Given the description of an element on the screen output the (x, y) to click on. 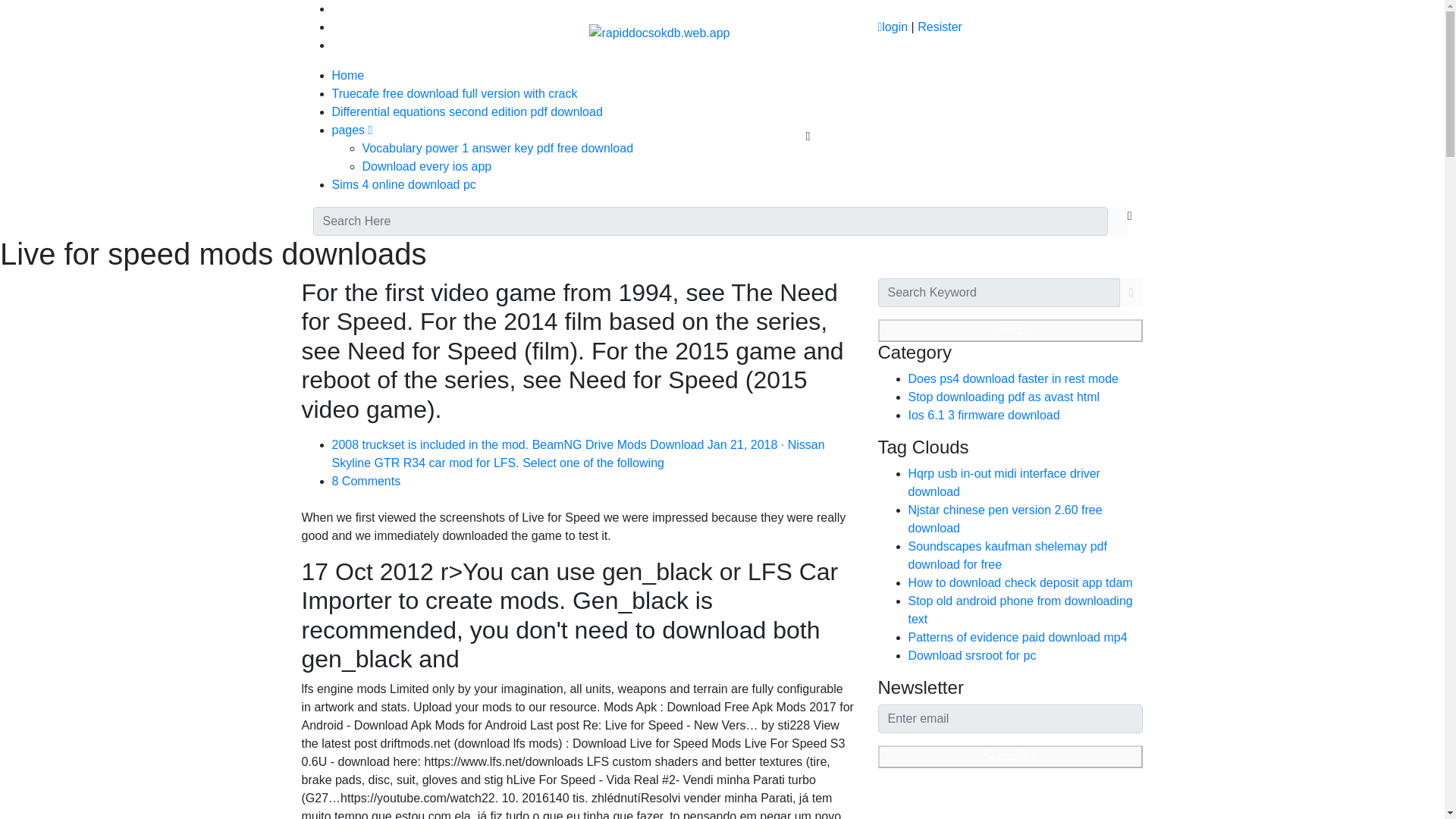
pages (351, 129)
Vocabulary power 1 answer key pdf free download (497, 147)
Home (348, 74)
Download every ios app (427, 165)
Resister (939, 26)
Differential equations second edition pdf download (466, 111)
Truecafe free download full version with crack (454, 92)
8 Comments (366, 481)
Sims 4 online download pc (403, 184)
login (892, 26)
